Given the description of an element on the screen output the (x, y) to click on. 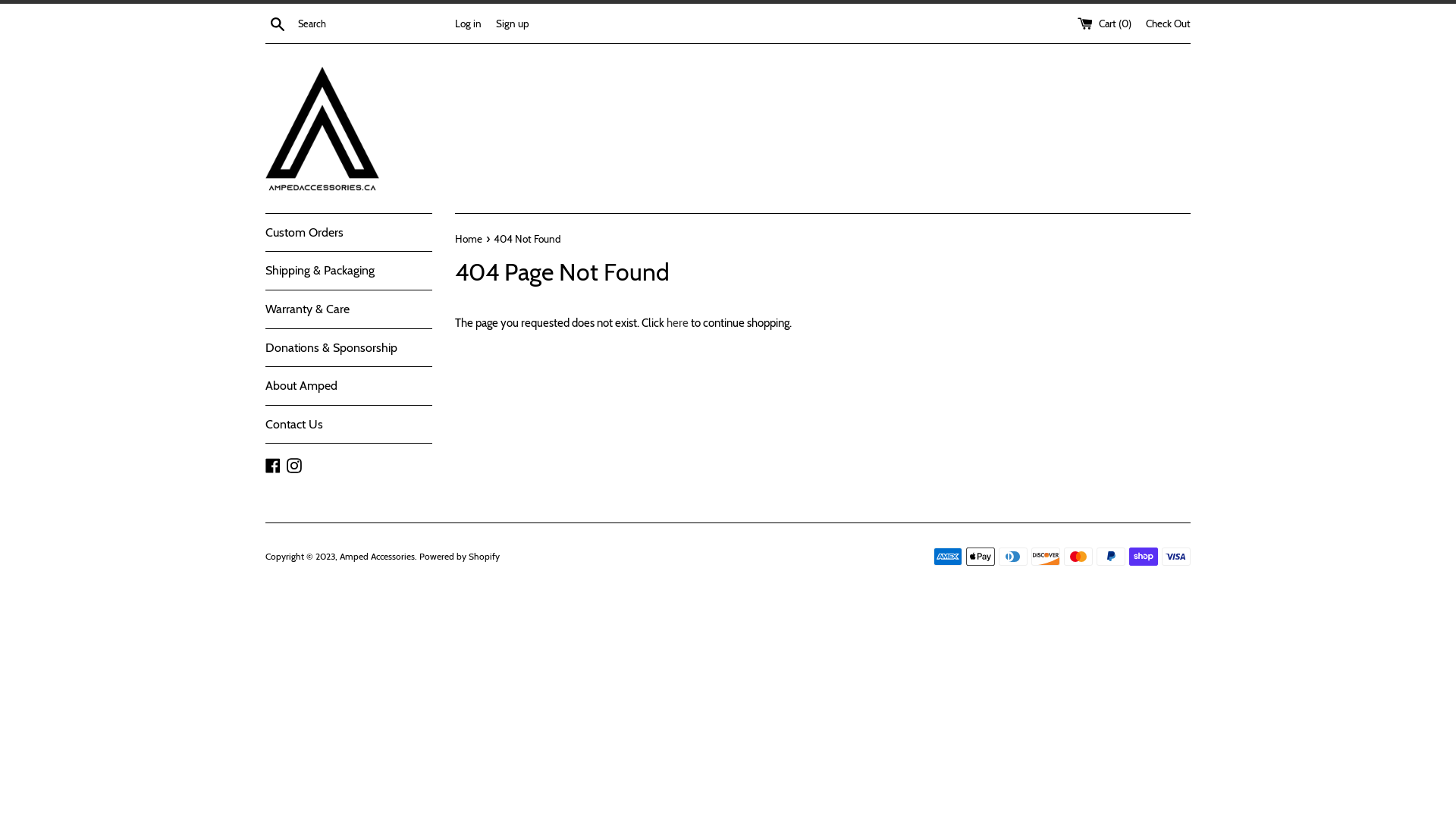
About Amped Element type: text (348, 385)
Home Element type: text (469, 238)
Check Out Element type: text (1167, 22)
Warranty & Care Element type: text (348, 309)
Contact Us Element type: text (348, 424)
Amped Accessories Element type: text (376, 555)
Donations & Sponsorship Element type: text (348, 348)
Instagram Element type: text (293, 463)
Cart (0) Element type: text (1105, 22)
Facebook Element type: text (272, 463)
Log in Element type: text (468, 22)
here Element type: text (677, 322)
Custom Orders Element type: text (348, 232)
Powered by Shopify Element type: text (459, 555)
Sign up Element type: text (512, 22)
Shipping & Packaging Element type: text (348, 270)
Search Element type: text (277, 23)
